Given the description of an element on the screen output the (x, y) to click on. 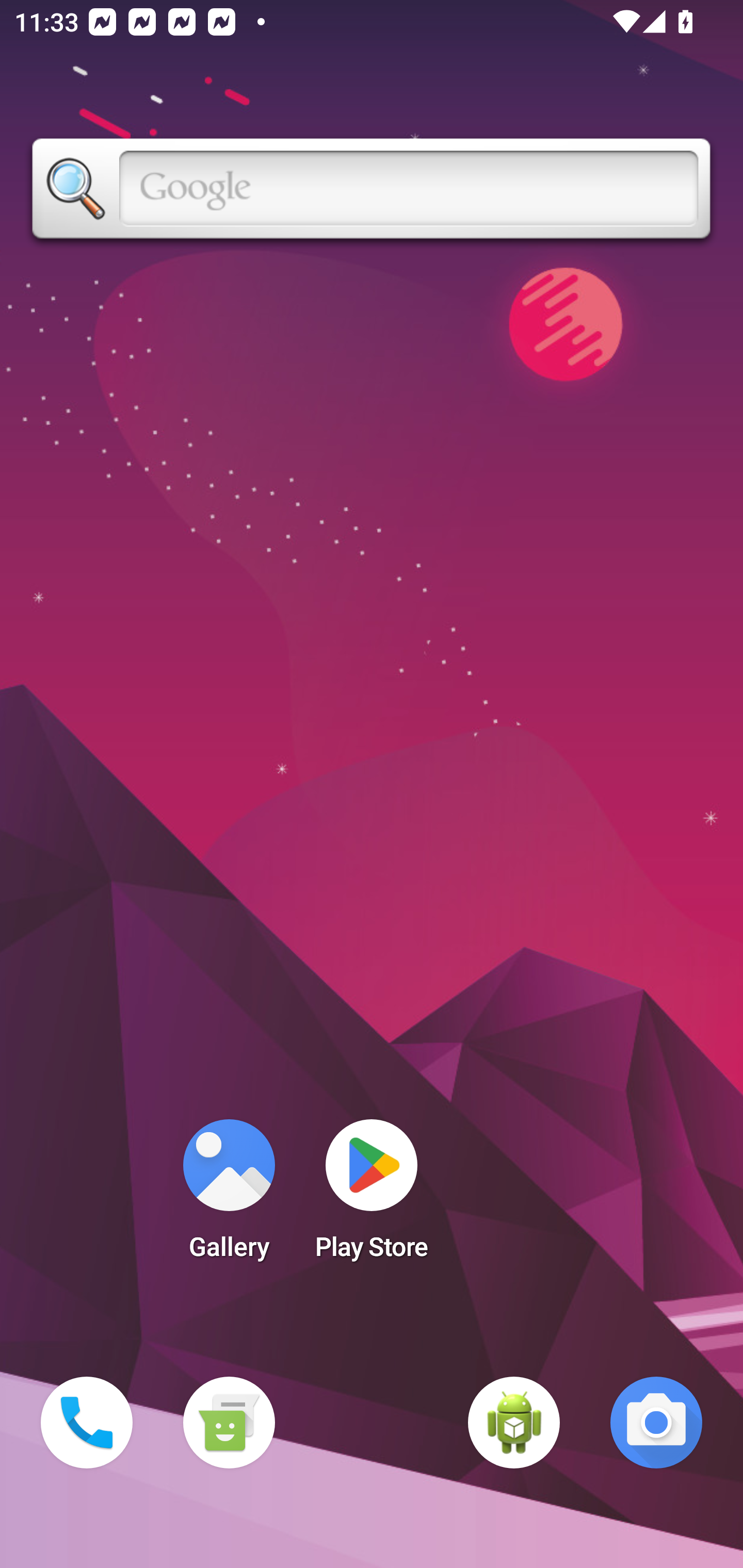
Gallery (228, 1195)
Play Store (371, 1195)
Phone (86, 1422)
Messaging (228, 1422)
WebView Browser Tester (513, 1422)
Camera (656, 1422)
